Given the description of an element on the screen output the (x, y) to click on. 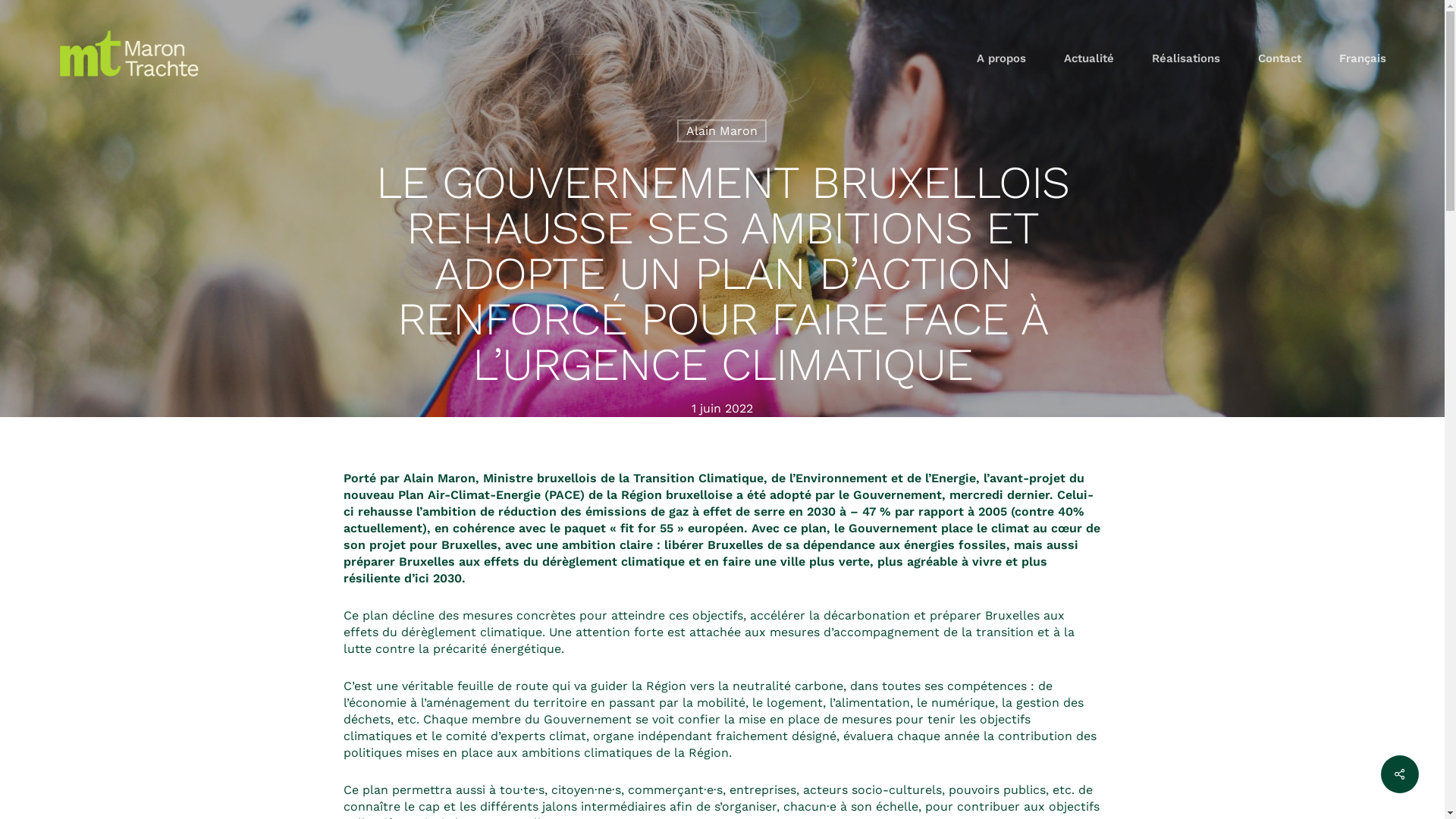
Alain Maron Element type: text (721, 130)
Contact Element type: text (1279, 58)
A propos Element type: text (1001, 58)
